Given the description of an element on the screen output the (x, y) to click on. 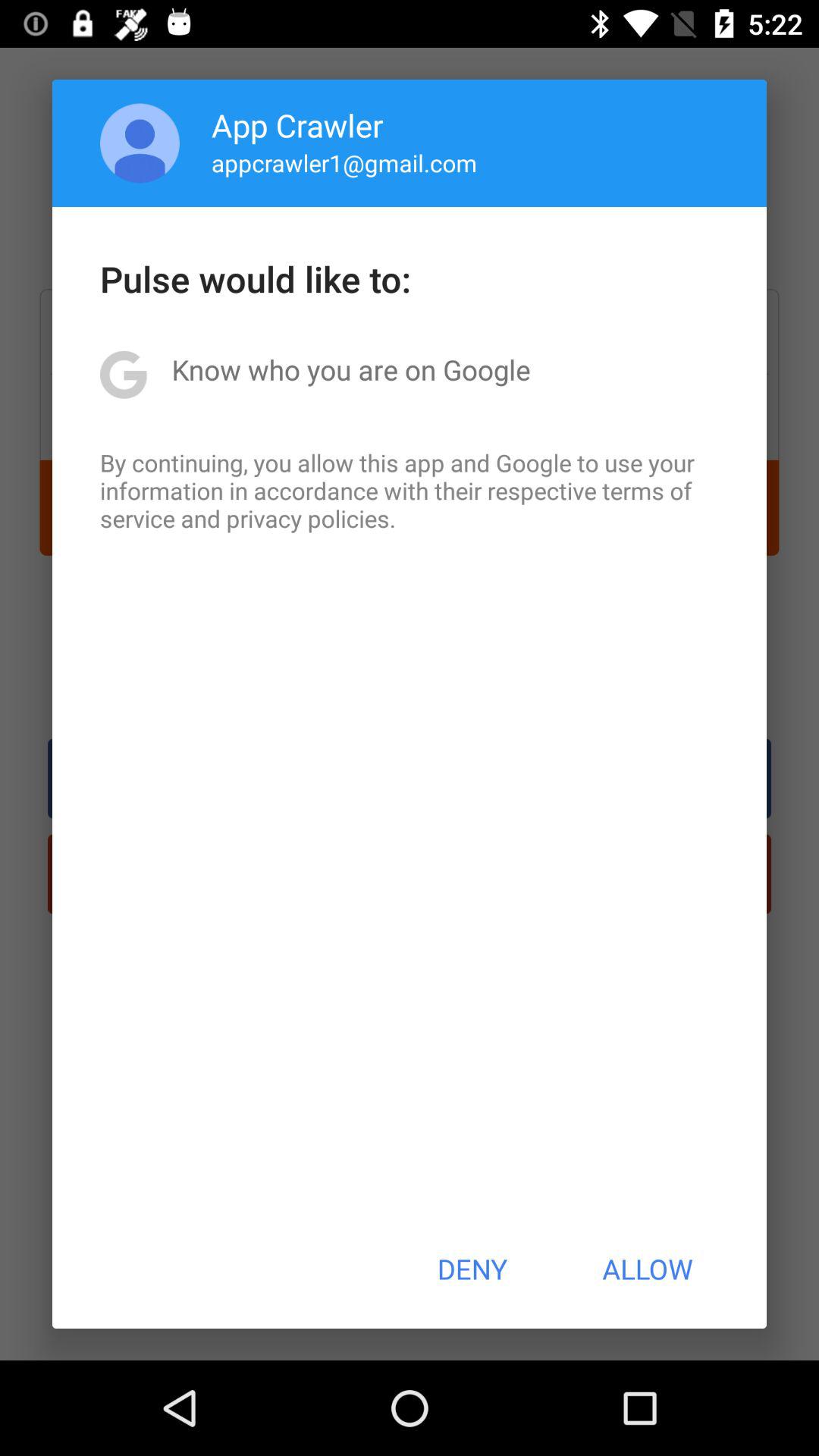
open the appcrawler1@gmail.com (344, 162)
